Given the description of an element on the screen output the (x, y) to click on. 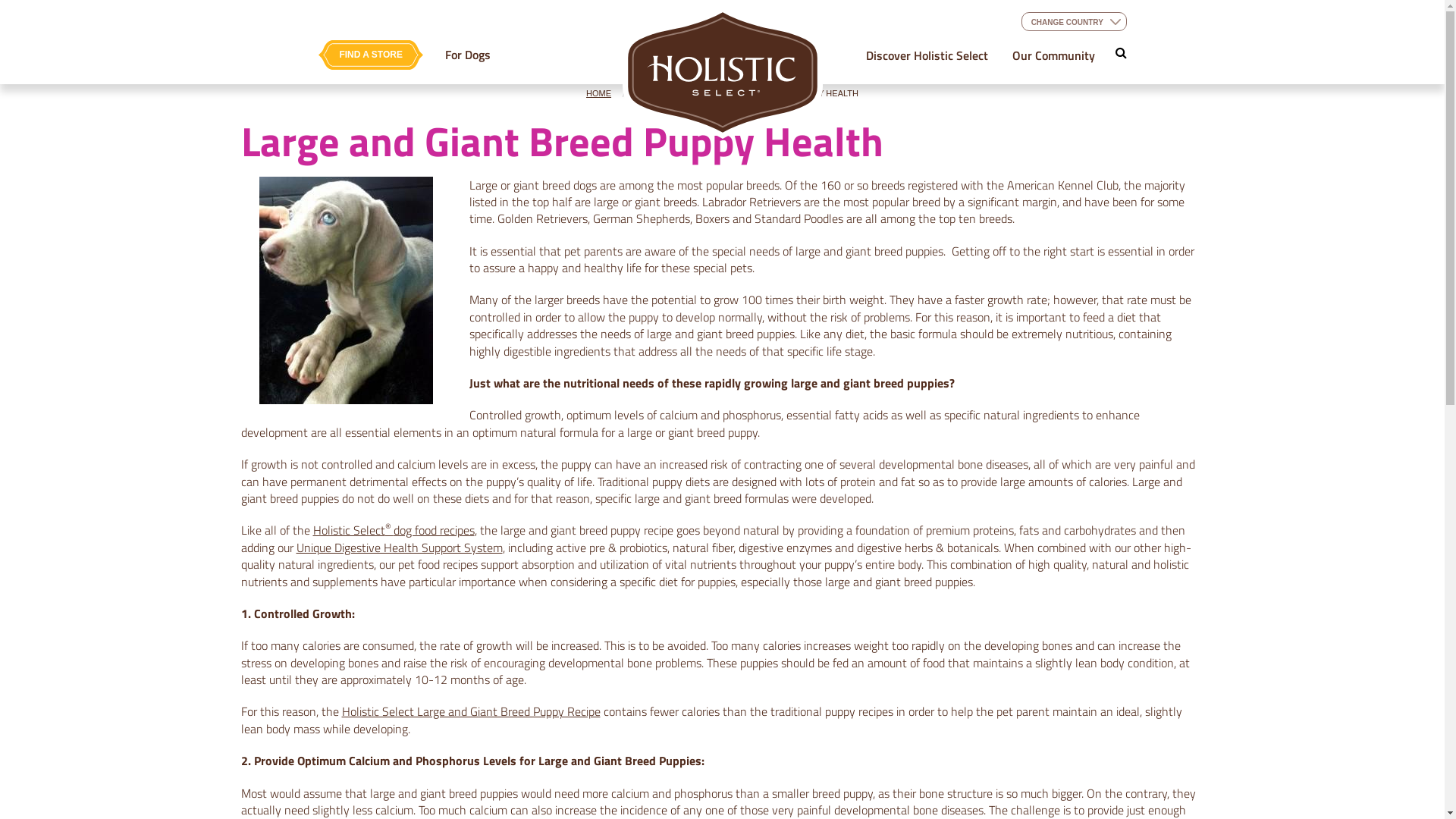
Open Search Form Element type: text (1120, 52)
Skip to main content Element type: text (0, 0)
FIND A STORE Element type: text (370, 55)
Our Community Element type: text (1053, 54)
Search Element type: text (277, 14)
Holistic Select Large and Giant Breed Puppy Recipe Element type: text (470, 711)
Unique Digestive Health Support System Element type: text (398, 547)
Discover Holistic Select Element type: text (926, 54)
CHANGE COUNTRY Element type: text (1073, 21)
BLOG Element type: text (649, 92)
For Dogs Element type: text (467, 54)
HOME Element type: text (598, 92)
